Given the description of an element on the screen output the (x, y) to click on. 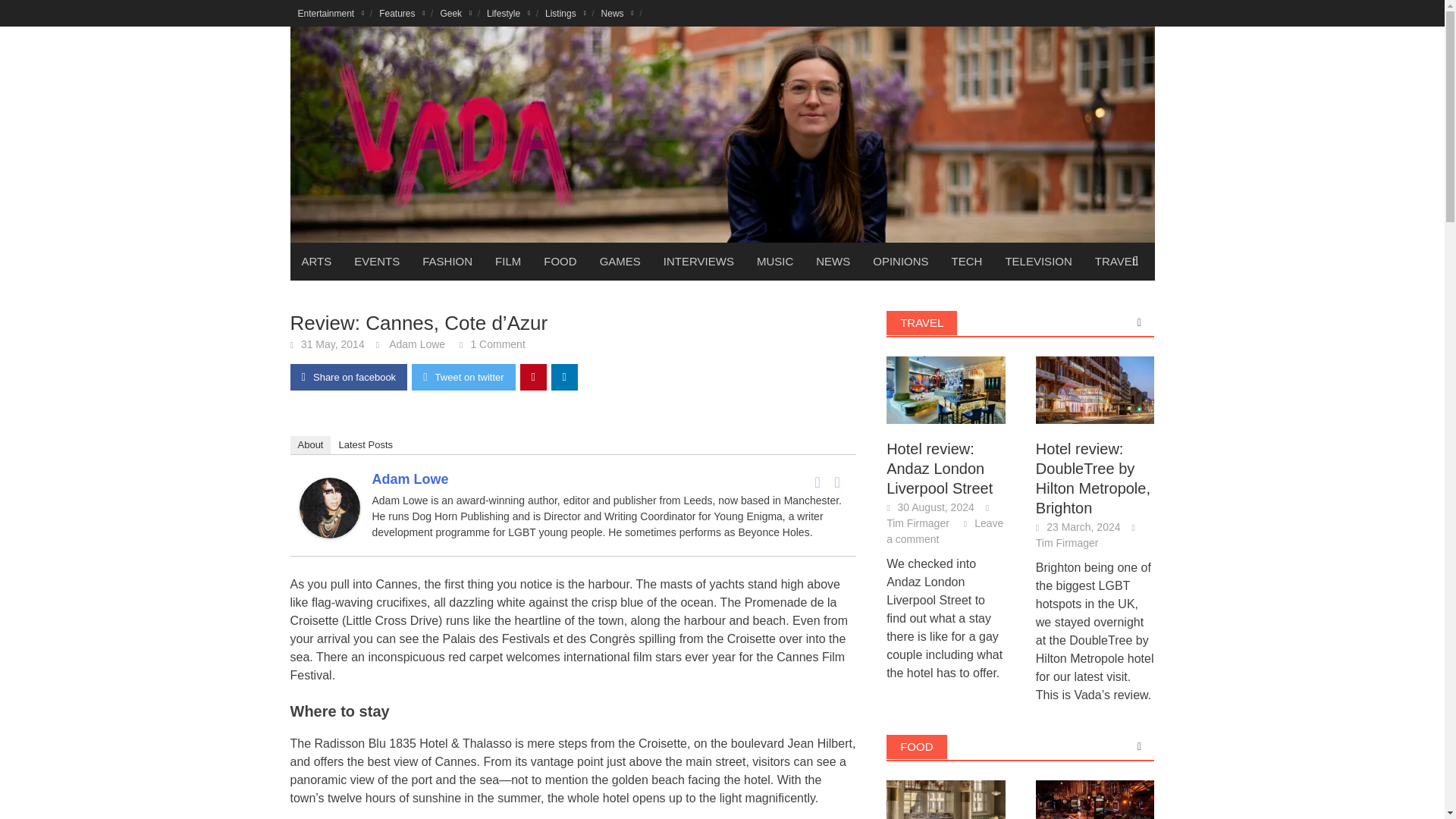
Hotel review: Andaz London Liverpool Street (946, 390)
Geek (455, 13)
Hotel review: DoubleTree by Hilton Metropole, Brighton (1094, 389)
Entertainment (330, 13)
News (618, 13)
Adam Lowe (328, 506)
Twitter (836, 482)
Listings (565, 13)
Hotel review: Andaz London Liverpool Street (946, 389)
Lifestyle (508, 13)
